Given the description of an element on the screen output the (x, y) to click on. 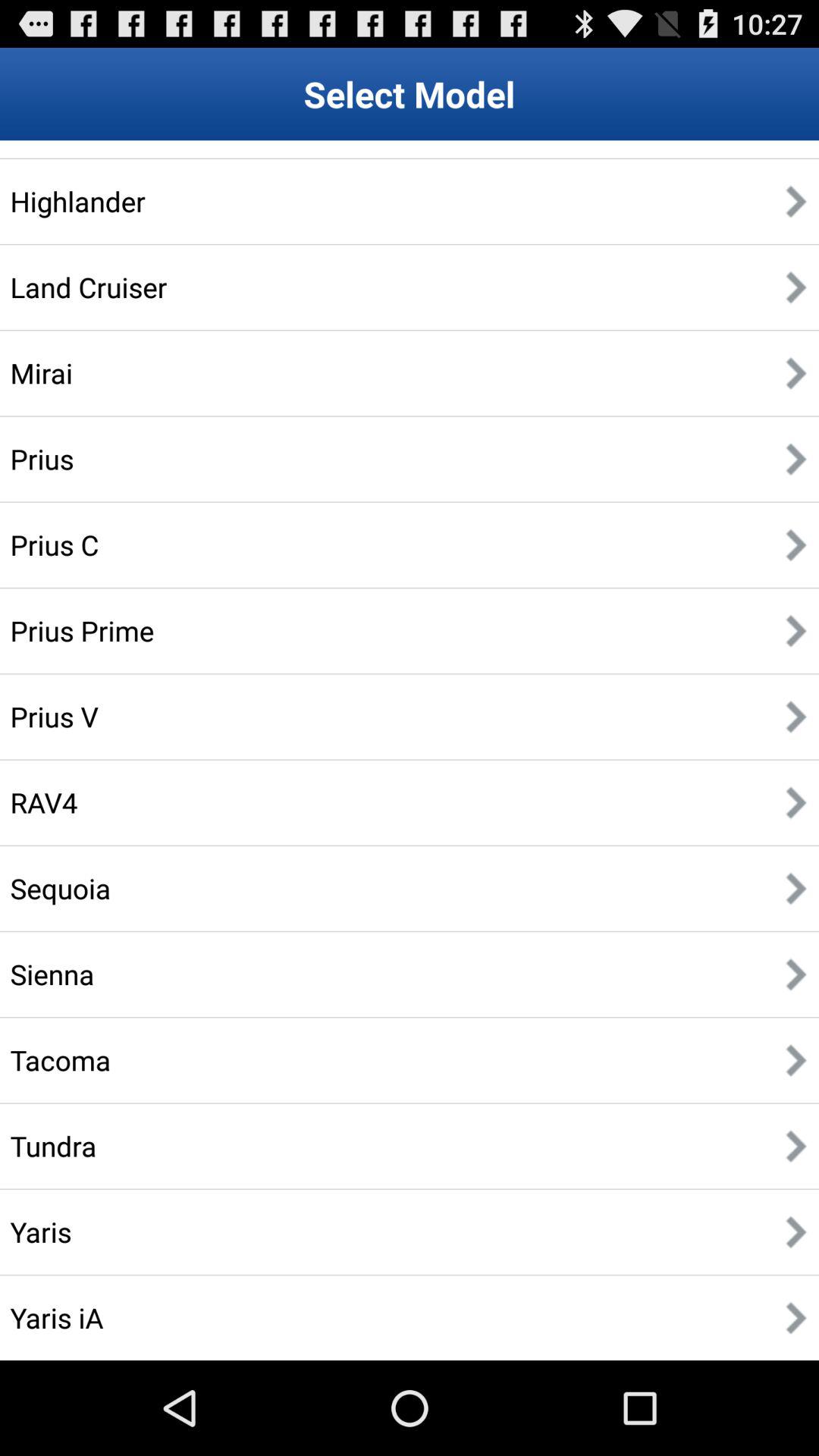
click on the icon right to mirai (796, 373)
click on the symbol beside tundra (796, 1145)
click on eight arrow symbol from top (796, 802)
click on the symbol right next to prius prime (796, 630)
click the button on the right next to the button sienna on the web page (796, 974)
